Given the description of an element on the screen output the (x, y) to click on. 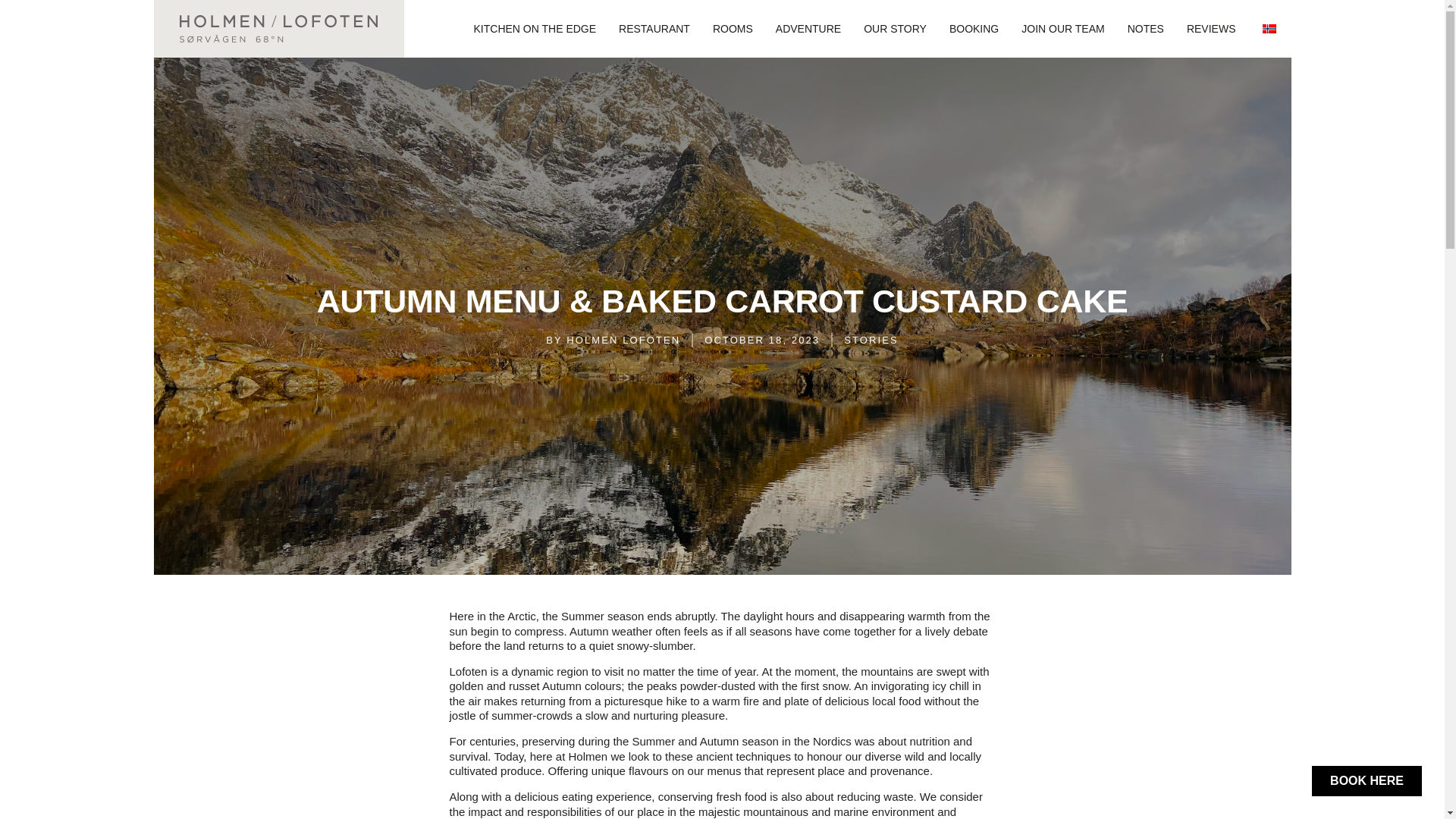
BY HOLMEN LOFOTEN (612, 340)
JOIN OUR TEAM (1062, 28)
NOTES (1145, 28)
ADVENTURE (807, 28)
OCTOBER 18, 2023 (761, 340)
ROOMS (732, 28)
RESTAURANT (654, 28)
STORIES (871, 339)
KITCHEN ON THE EDGE (535, 28)
OUR STORY (894, 28)
